Given the description of an element on the screen output the (x, y) to click on. 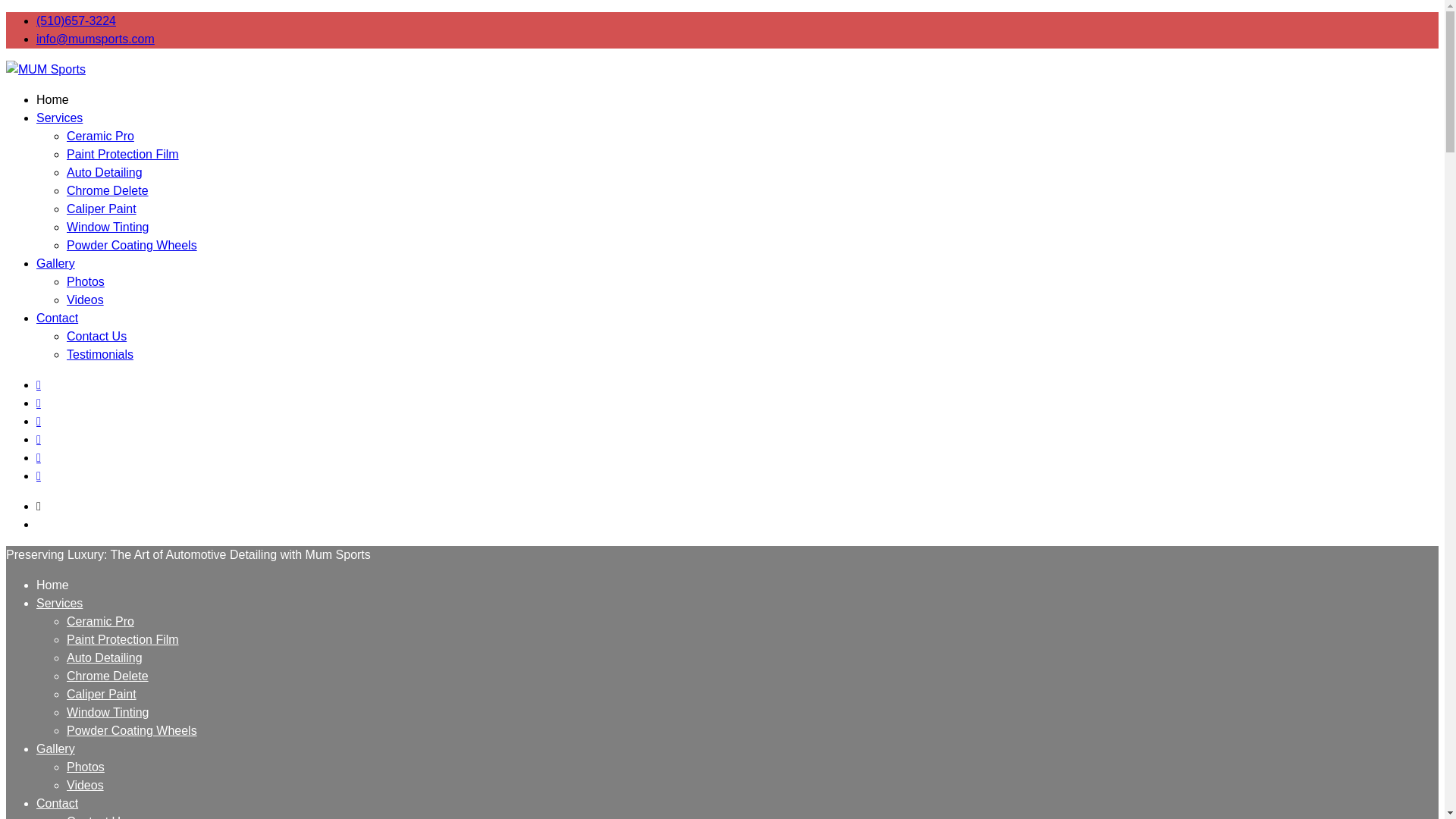
Gallery (55, 263)
Paint Protection Film (122, 154)
Ceramic Pro (99, 135)
Gallery (55, 748)
Videos (84, 784)
MUM Sports (39, 99)
Powder Coating Wheels (131, 730)
Paint Protection Film (122, 639)
Services (59, 117)
Chrome Delete (107, 675)
